Given the description of an element on the screen output the (x, y) to click on. 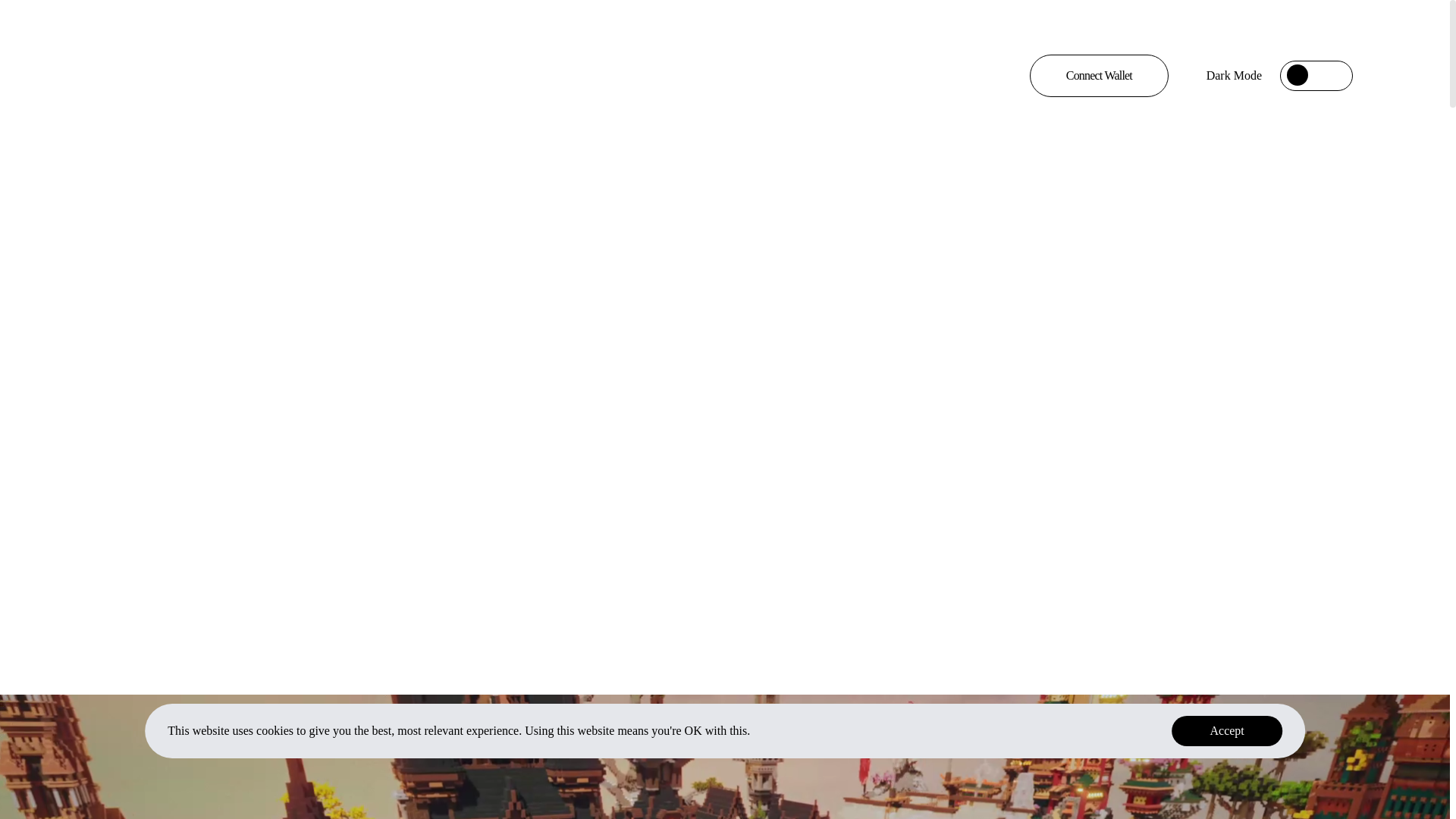
Connect Wallet Element type: text (1098, 75)
Accept Element type: text (1226, 730)
